Given the description of an element on the screen output the (x, y) to click on. 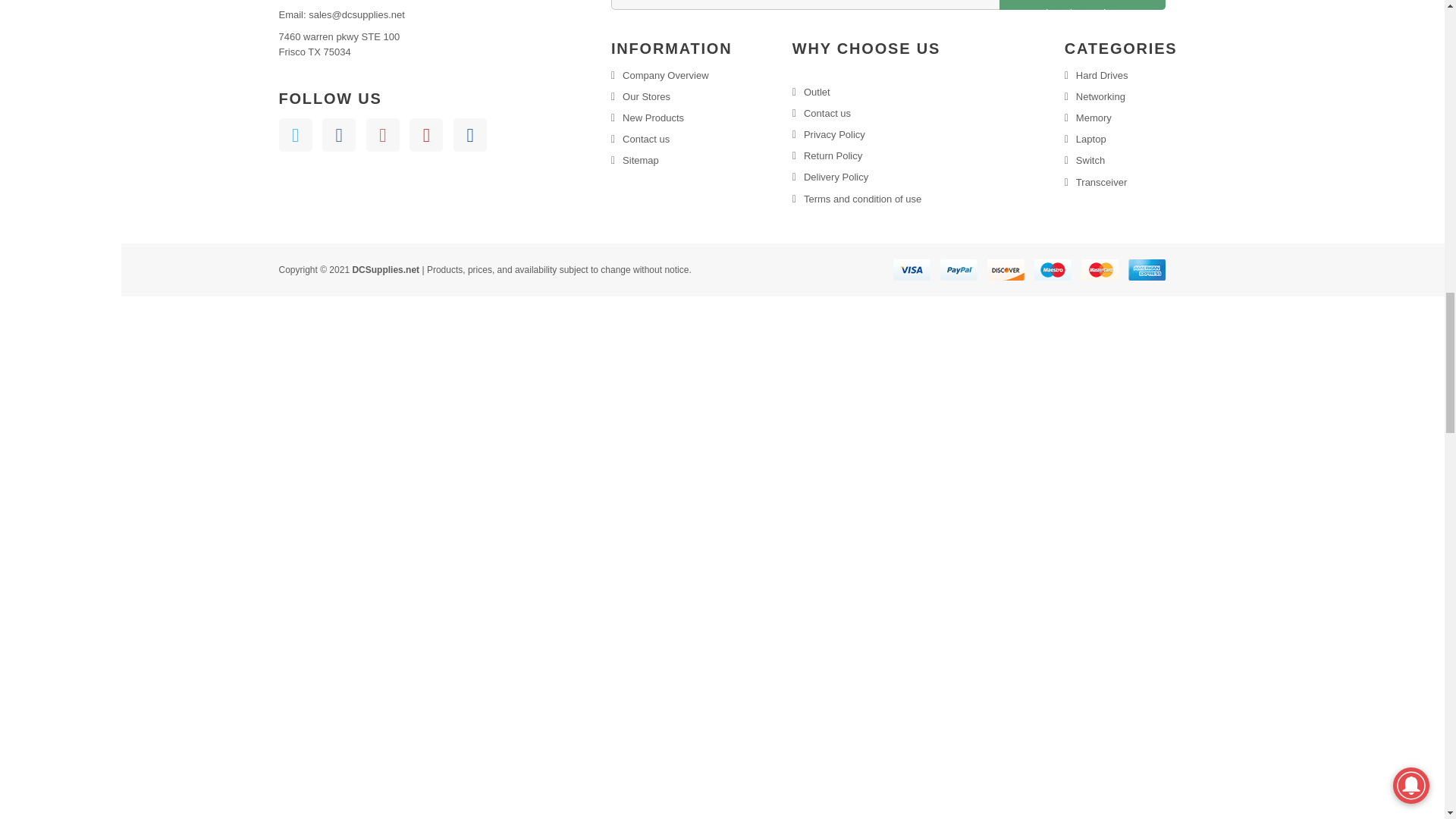
Enter your e-mail (888, 4)
